Given the description of an element on the screen output the (x, y) to click on. 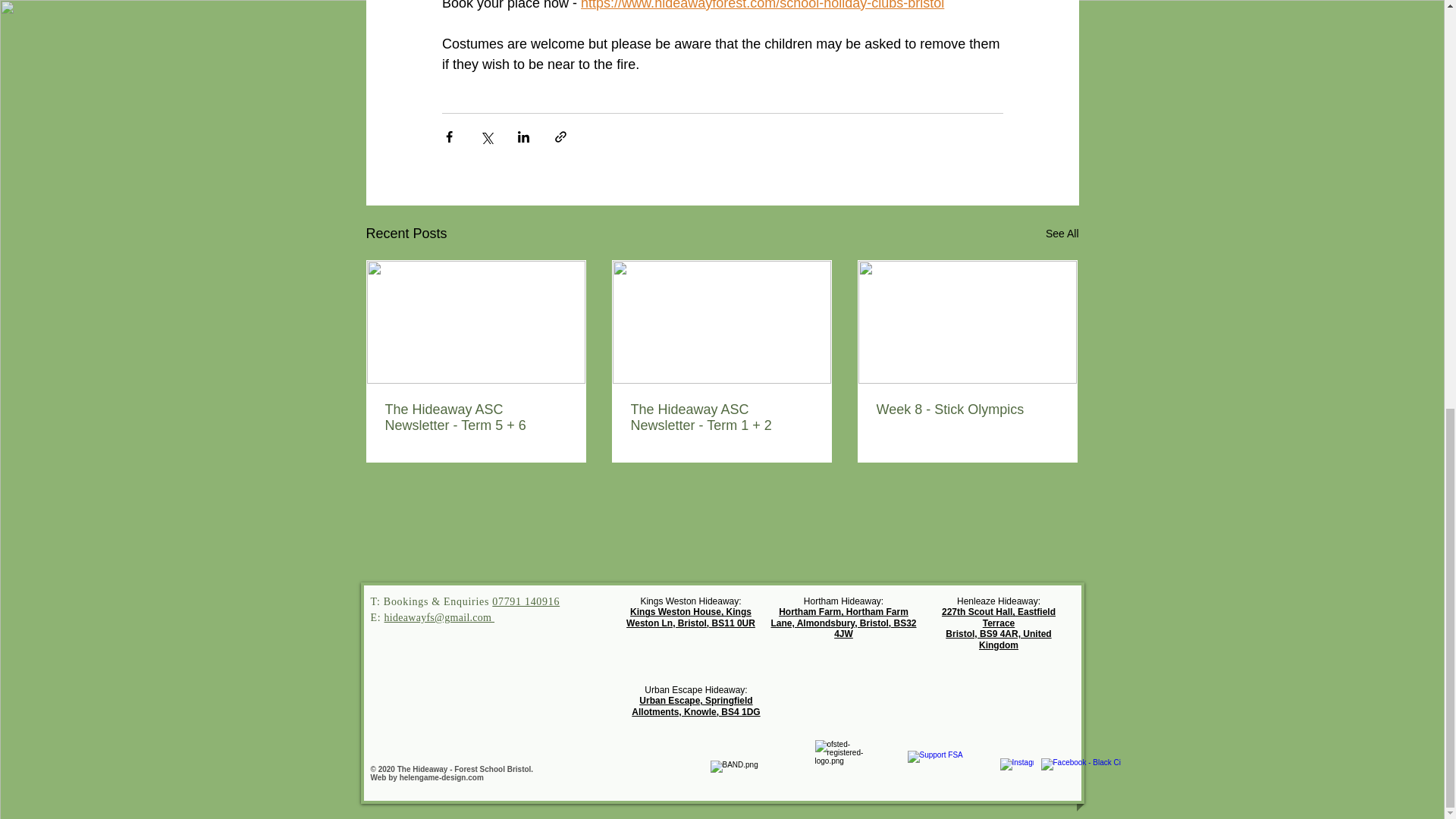
Bristol, BS9 4AR, United Kingdom (997, 636)
Henleaze Hideaway: (998, 597)
See All (1061, 230)
227th Scout Hall, Eastfield Terrace (998, 613)
helengame-design.com (440, 777)
Kings Weston House, Kings Weston Ln, Bristol, BS11 0UR (690, 613)
Urban Escape, Springfield Allotments, Knowle, BS4 1DG (695, 705)
Week 8 - Stick Olympics (967, 406)
